Given the description of an element on the screen output the (x, y) to click on. 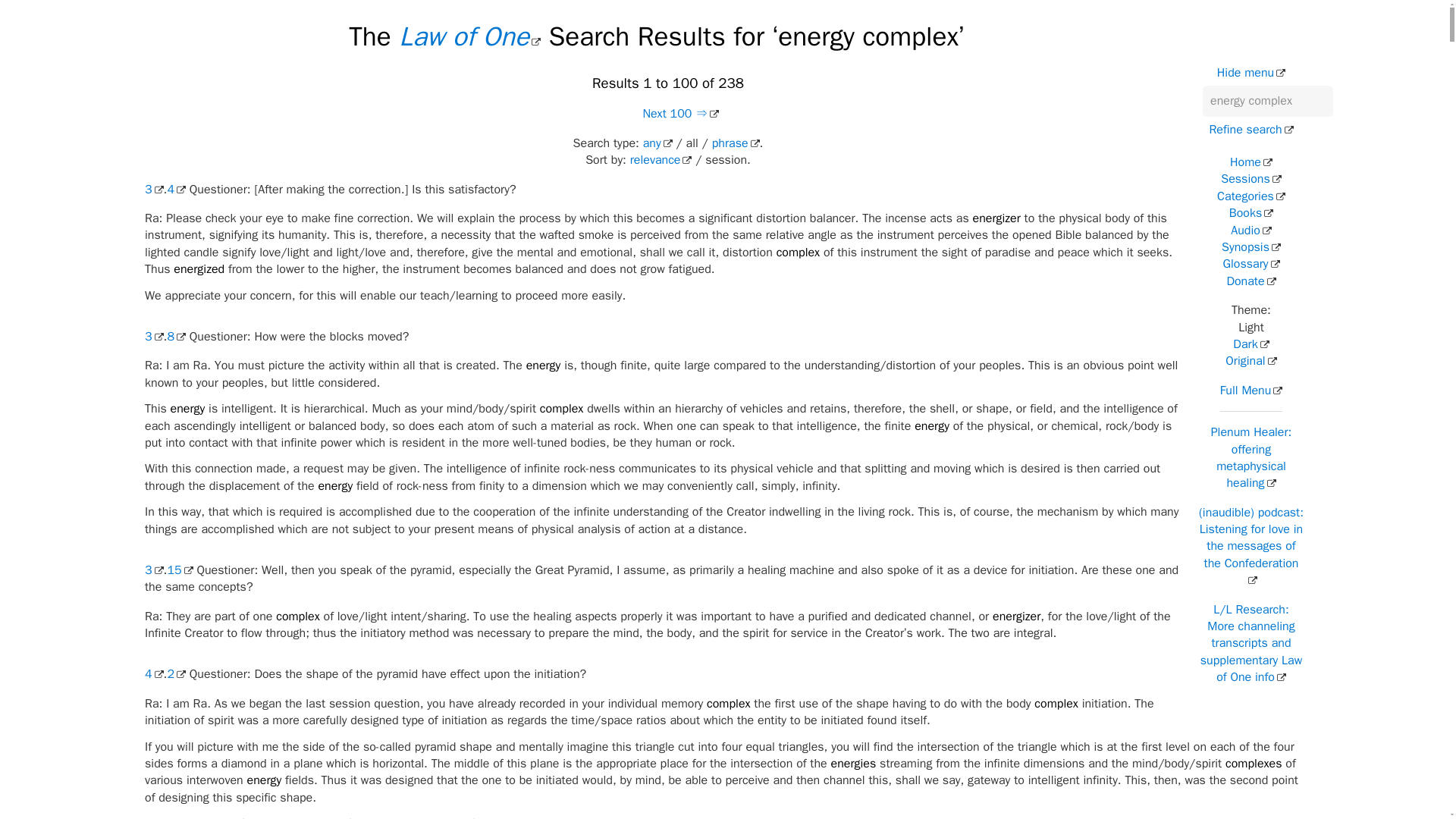
8 (176, 336)
15 (179, 570)
any (657, 142)
3 (153, 336)
relevance (661, 159)
3 (153, 189)
4 (176, 189)
Law of One (469, 36)
phrase (735, 142)
2 (176, 673)
